Given the description of an element on the screen output the (x, y) to click on. 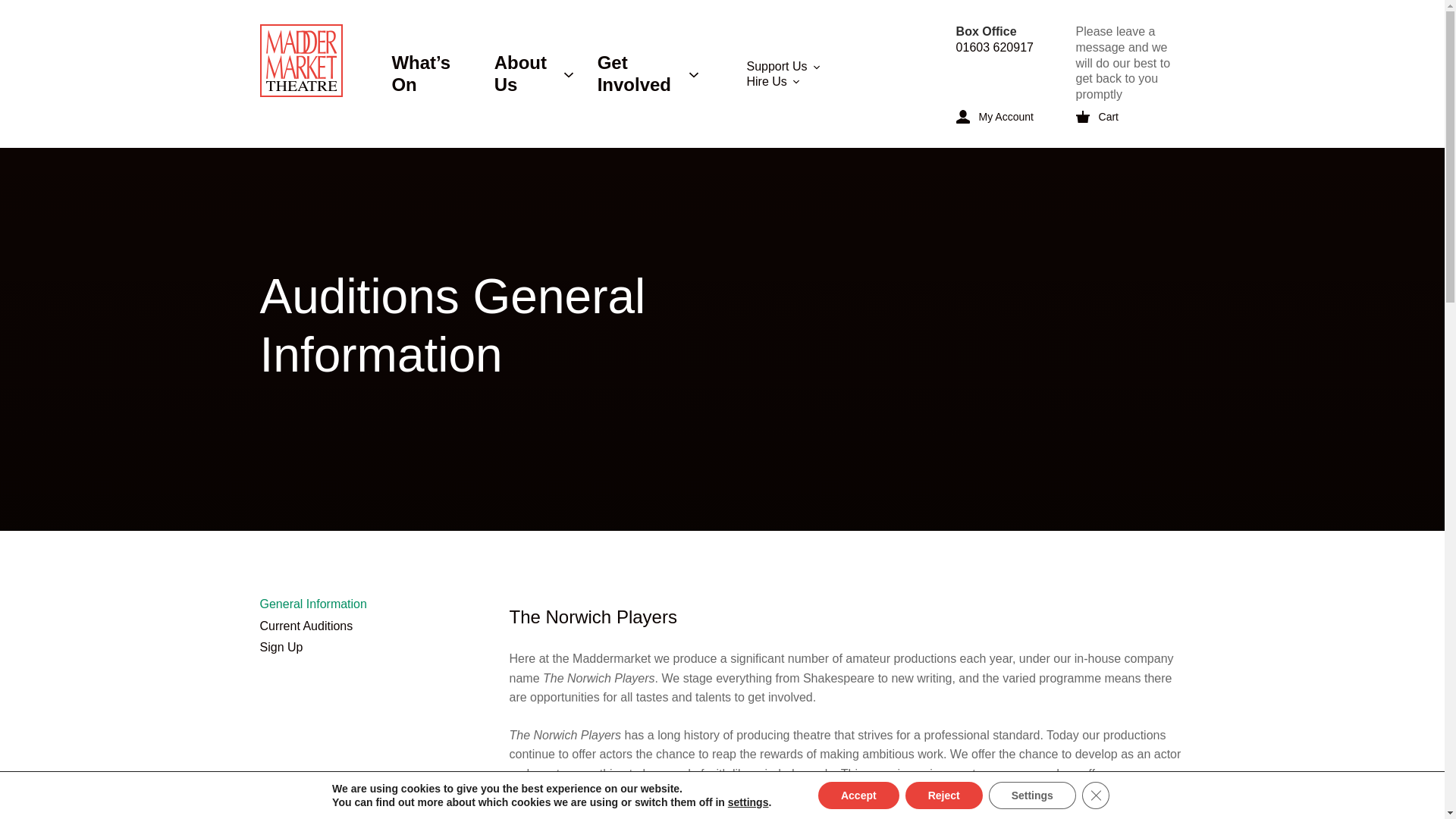
Current Auditions (305, 625)
Support Us (828, 65)
Cart (1118, 116)
Hire Us (838, 81)
General Information (312, 603)
Sign Up (280, 646)
01603 620917 (994, 47)
Get Involved (647, 74)
About Us (534, 74)
My Account (1010, 116)
